Given the description of an element on the screen output the (x, y) to click on. 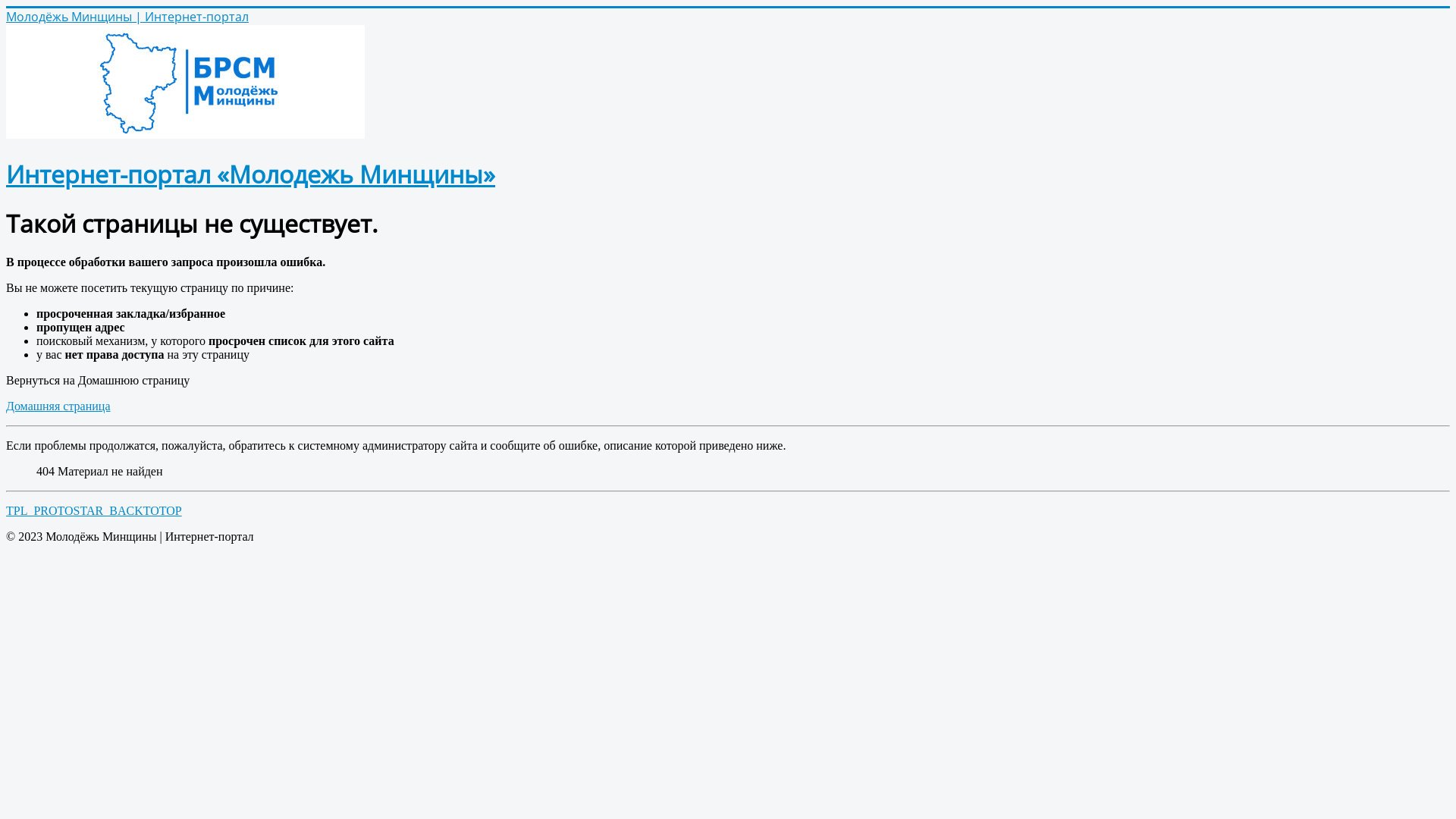
TPL_PROTOSTAR_BACKTOTOP Element type: text (94, 510)
